Given the description of an element on the screen output the (x, y) to click on. 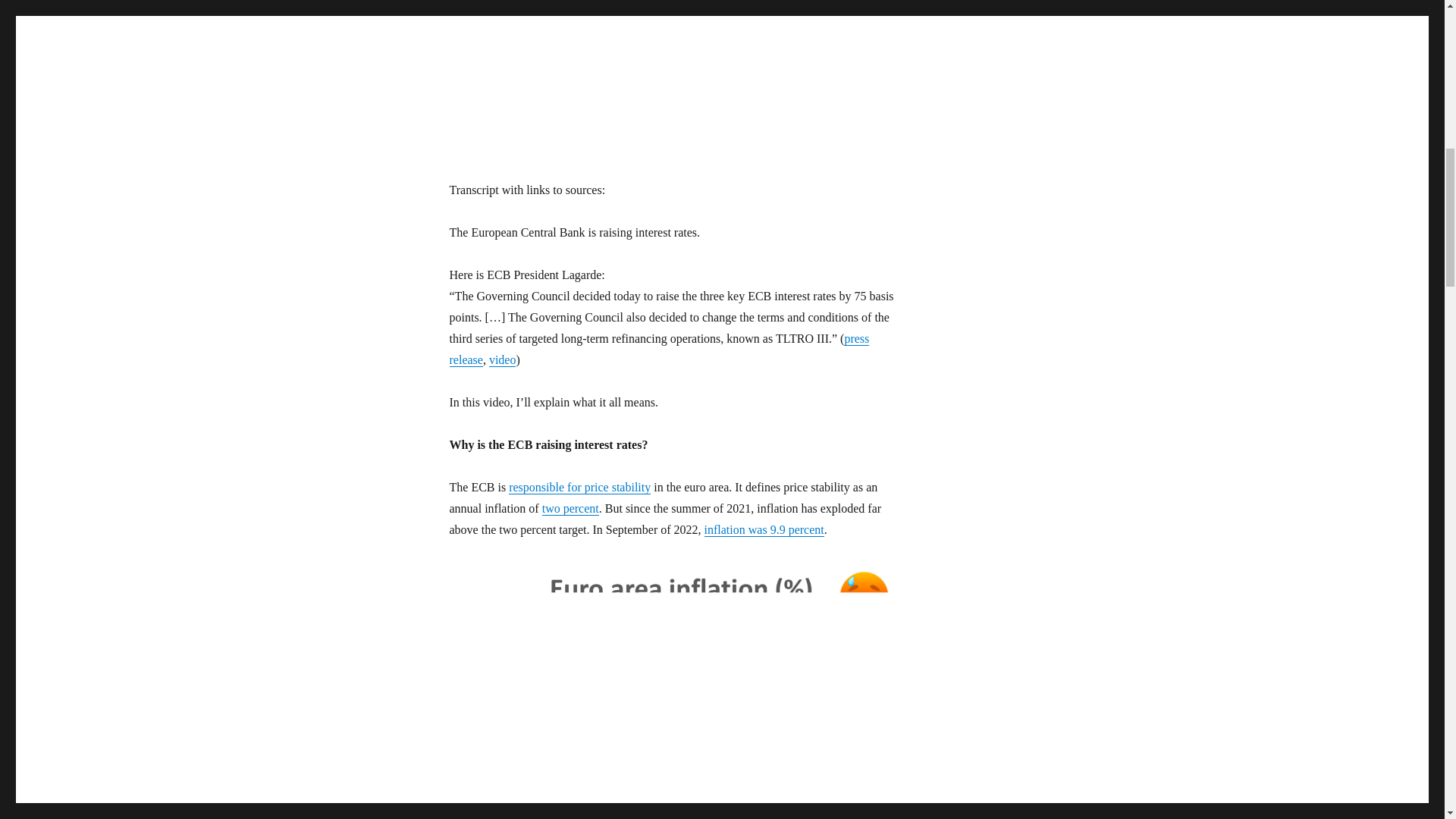
video (502, 359)
inflation was 9.9 percent (764, 529)
press release (658, 349)
responsible for price stability (579, 486)
ECB interest rates (676, 73)
two percent (569, 508)
